Given the description of an element on the screen output the (x, y) to click on. 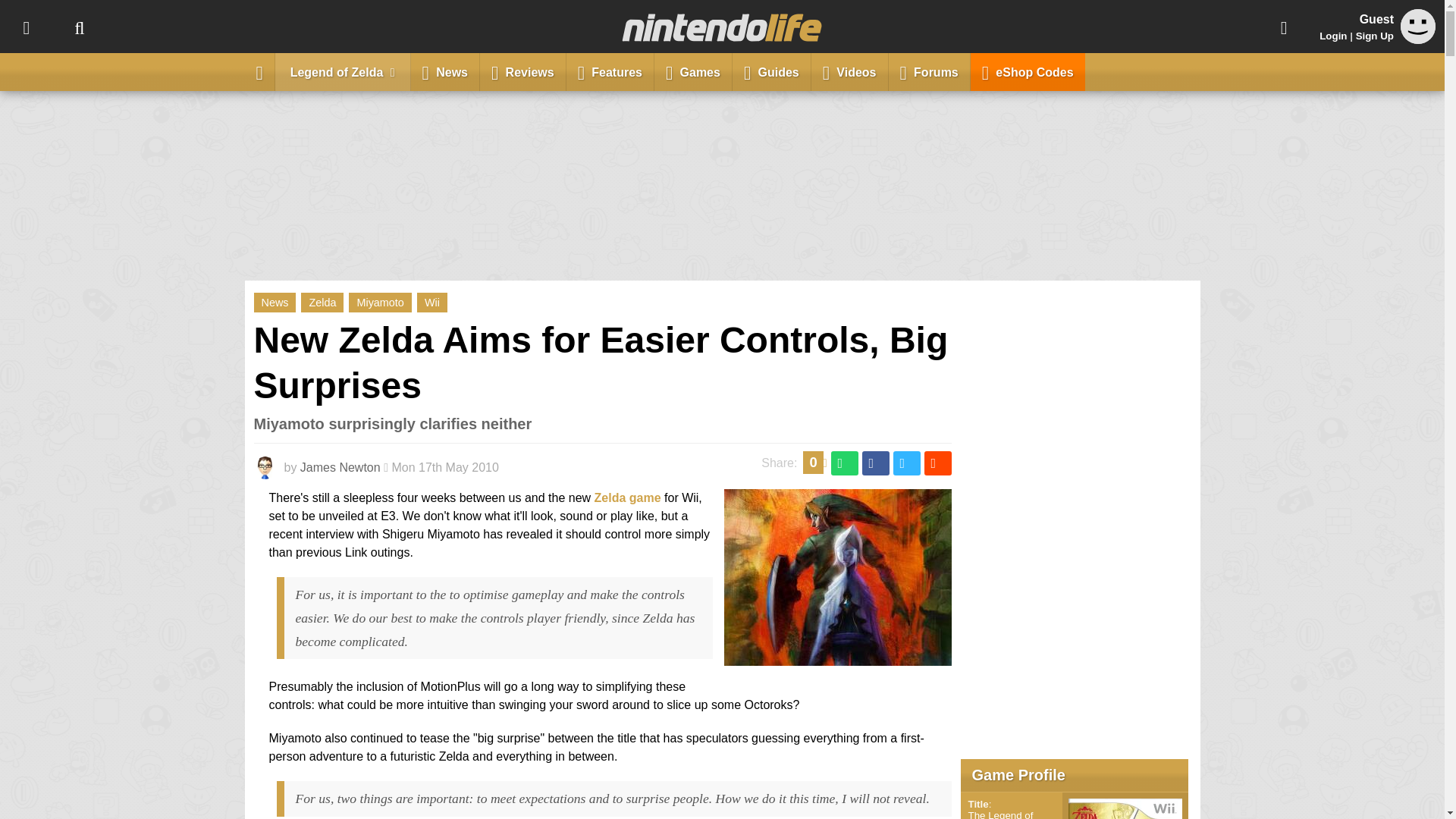
Nintendo Life (721, 27)
Search (79, 26)
Features (609, 71)
Share this on Reddit (936, 463)
Topics (26, 26)
Sign Up (1374, 35)
News (274, 302)
Share This Page (1283, 26)
Hurry up dammit. (836, 656)
Videos (849, 71)
